Given the description of an element on the screen output the (x, y) to click on. 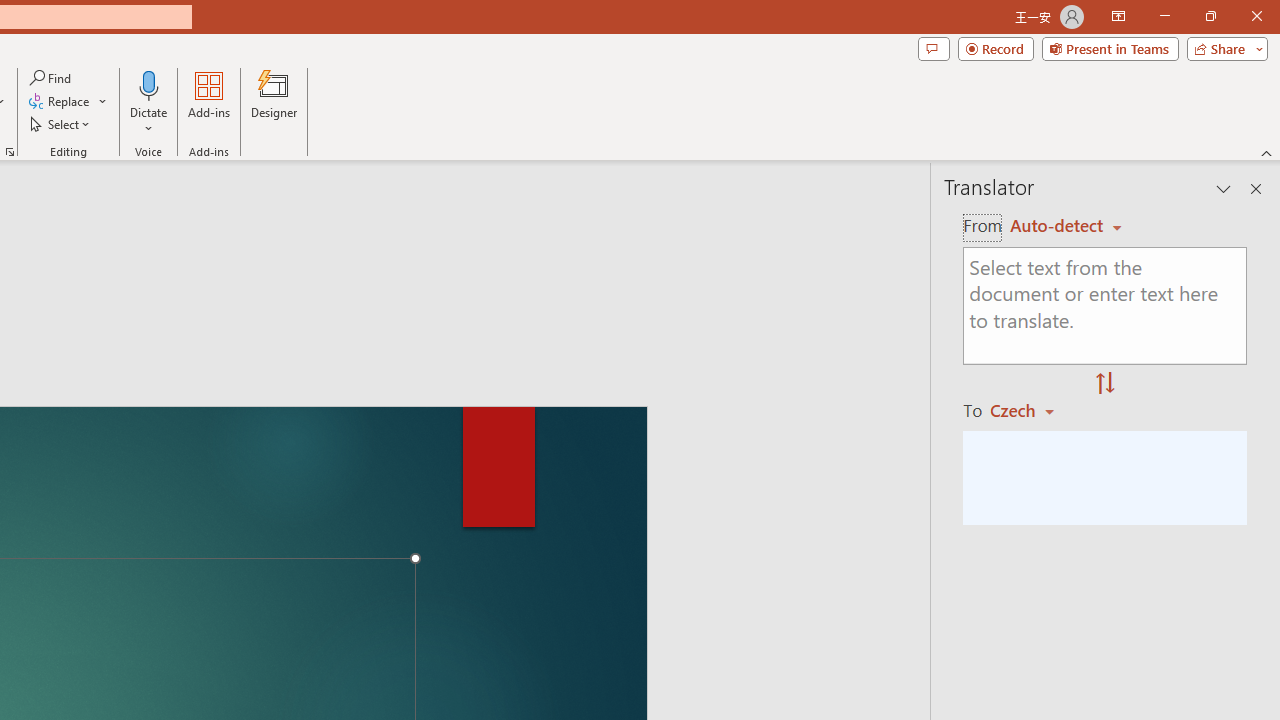
Czech (1030, 409)
Select (61, 124)
Swap "from" and "to" languages. (1105, 383)
